Given the description of an element on the screen output the (x, y) to click on. 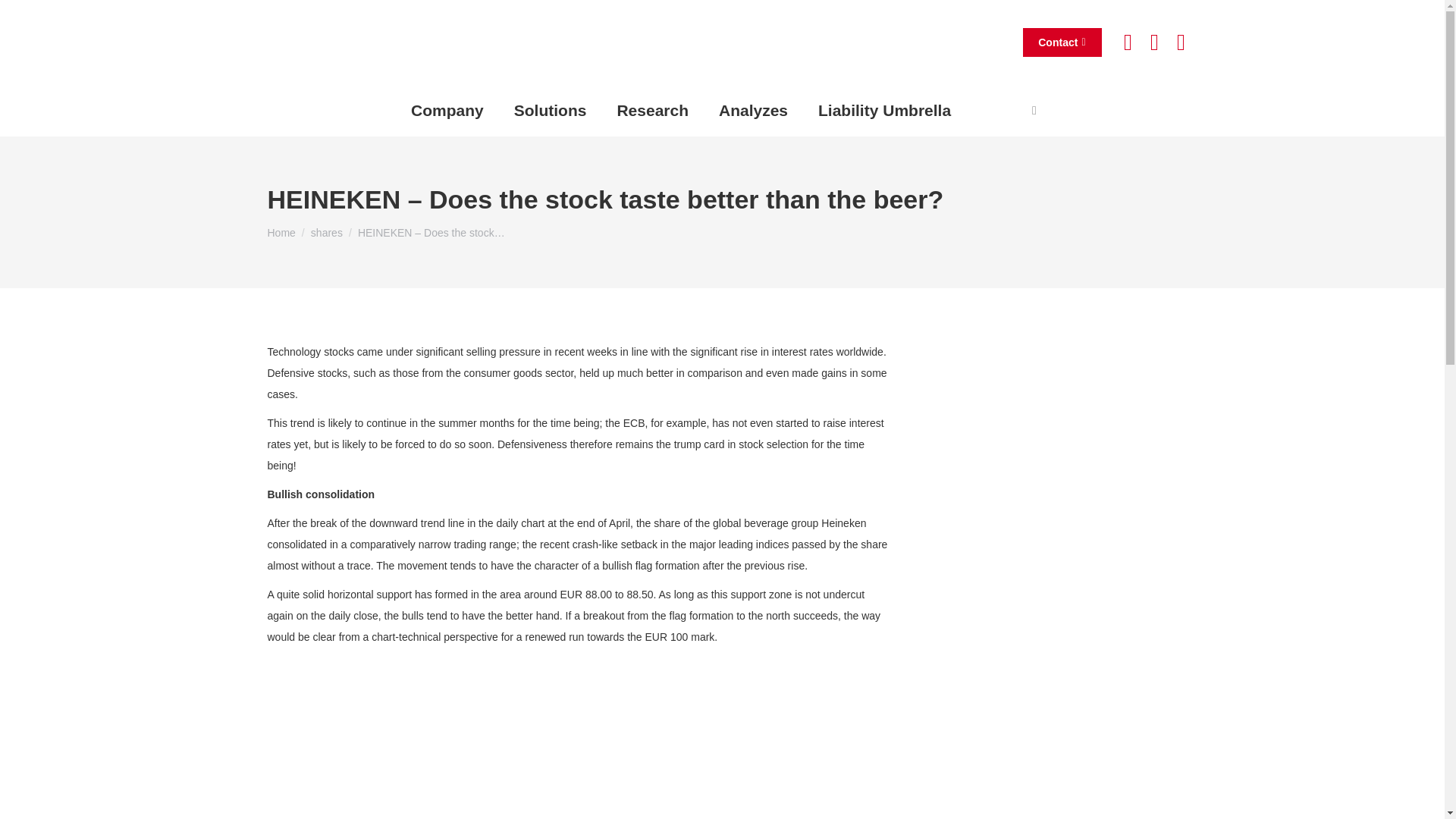
Contact (1061, 41)
XING page opens in new window (1180, 41)
shares (326, 232)
Company (446, 109)
X page opens in new window (1127, 41)
Liability Umbrella (884, 109)
Linkedin page opens in new window (1154, 41)
Linkedin page opens in new window (1154, 41)
Solutions (550, 109)
X page opens in new window (1127, 41)
Research (651, 109)
XING page opens in new window (1180, 41)
Home (280, 232)
Analyzes (753, 109)
